Given the description of an element on the screen output the (x, y) to click on. 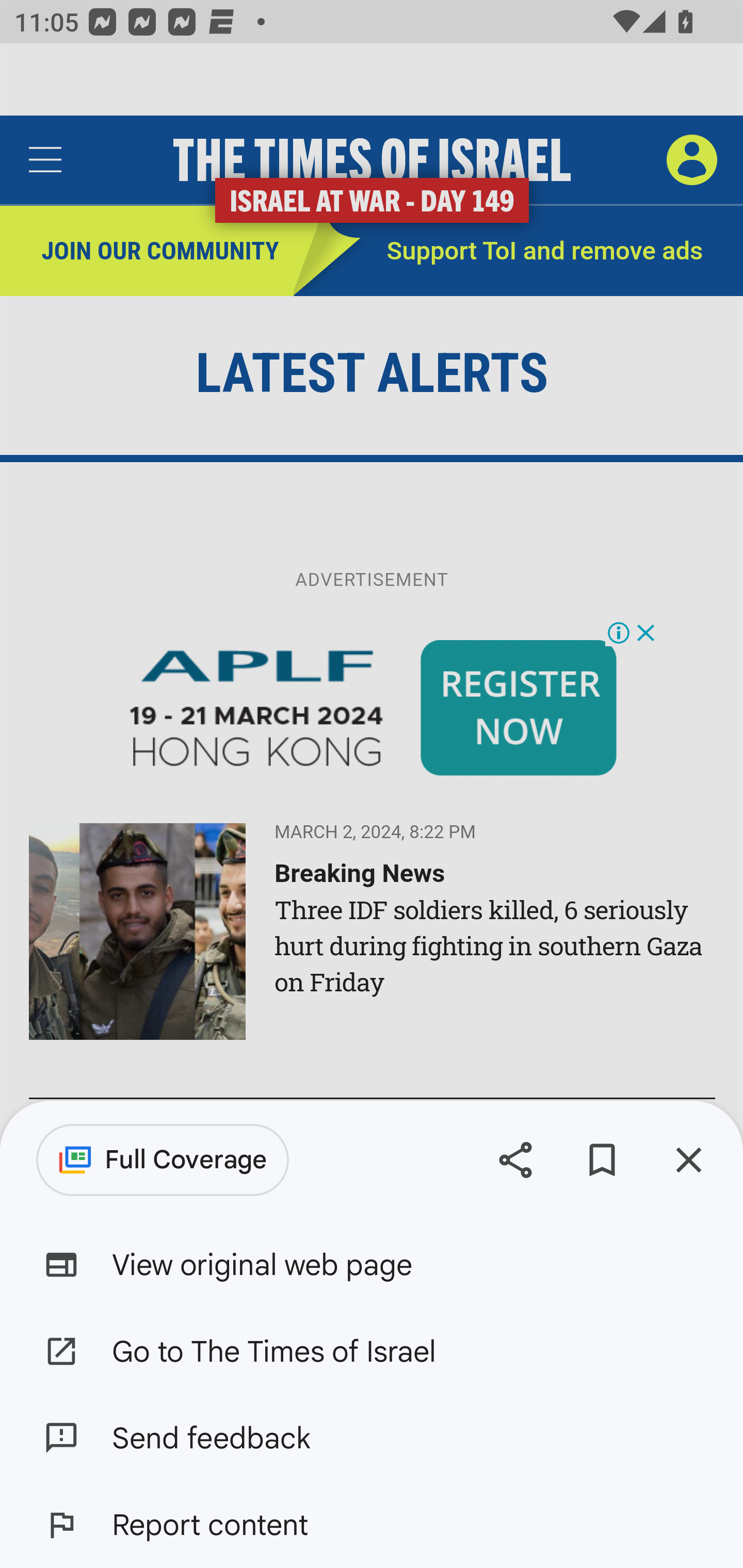
profile (691, 159)
The Times of Israel (371, 159)
JOIN OUR COMMUNITY (147, 251)
Breaking News (359, 873)
Share (514, 1159)
Save for later (601, 1159)
Close (688, 1159)
Full Coverage (162, 1160)
View original web page (371, 1264)
Go to The Times of Israel (371, 1350)
Send feedback (371, 1437)
Report content (371, 1524)
